Given the description of an element on the screen output the (x, y) to click on. 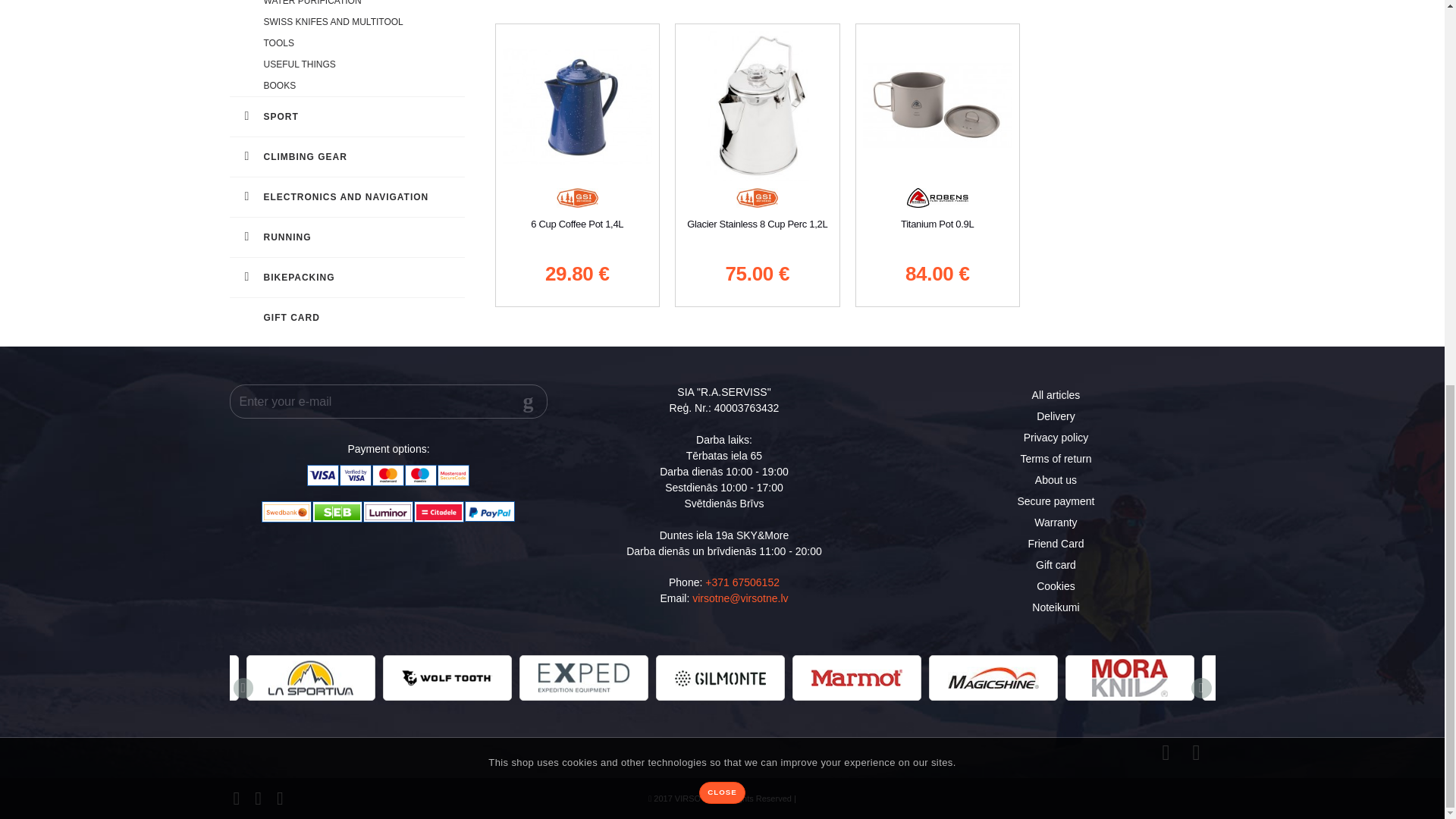
Enter your e-mail (387, 401)
